Given the description of an element on the screen output the (x, y) to click on. 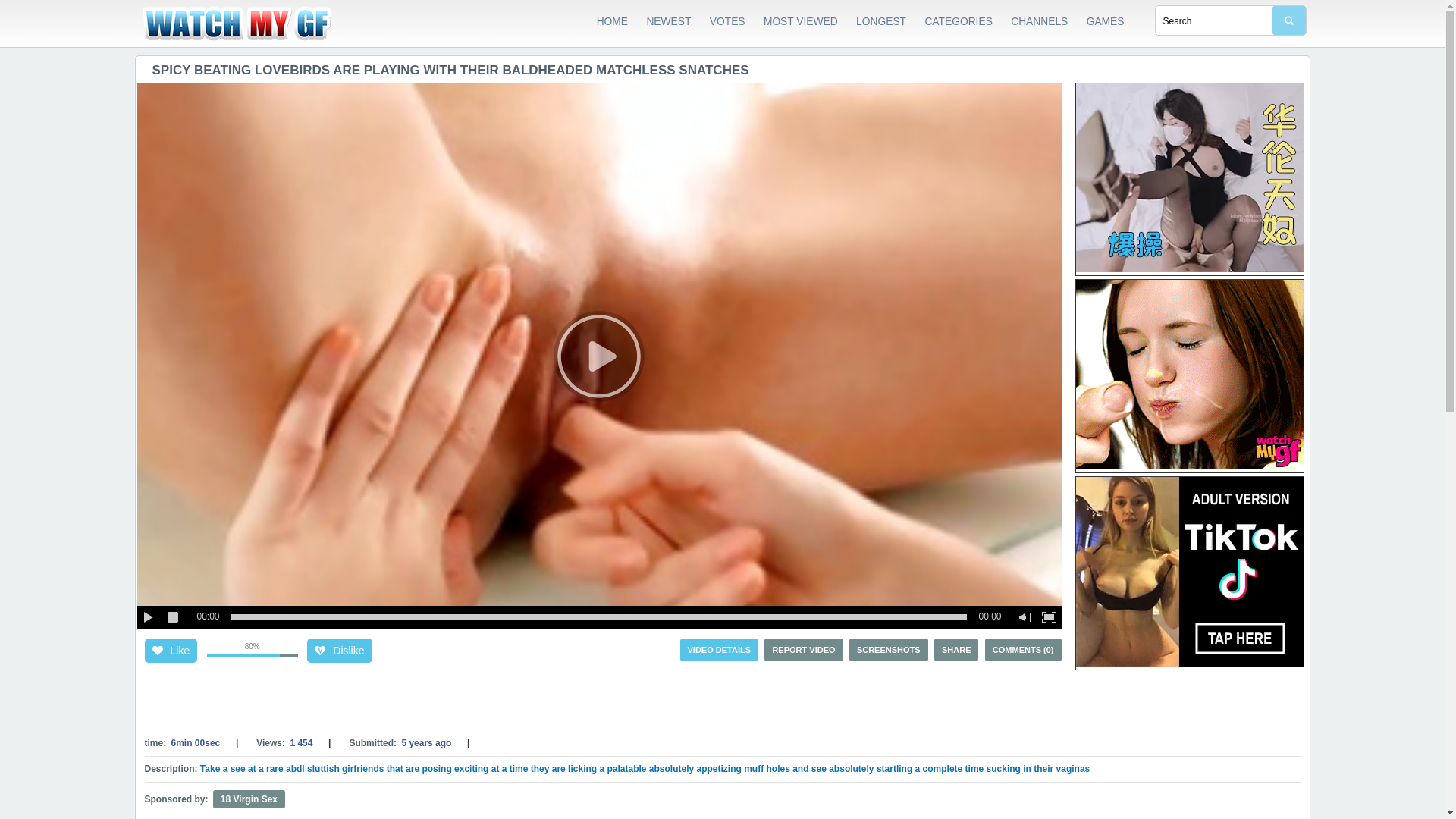
Like Element type: text (170, 650)
CHANNELS Element type: text (1039, 21)
SCREENSHOTS Element type: text (888, 649)
MOST VIEWED Element type: text (800, 21)
NEWEST Element type: text (668, 21)
Watch My GF Free Porn Tube Element type: hover (251, 23)
18 Virgin Sex Element type: text (249, 799)
VIDEO DETAILS Element type: text (719, 649)
VOTES Element type: text (727, 21)
LONGEST Element type: text (880, 21)
SHARE Element type: text (956, 649)
Dislike Element type: text (339, 650)
COMMENTS (0) Element type: text (1023, 649)
HOME Element type: text (612, 21)
GAMES Element type: text (1105, 21)
REPORT VIDEO Element type: text (803, 649)
CATEGORIES Element type: text (957, 21)
